Given the description of an element on the screen output the (x, y) to click on. 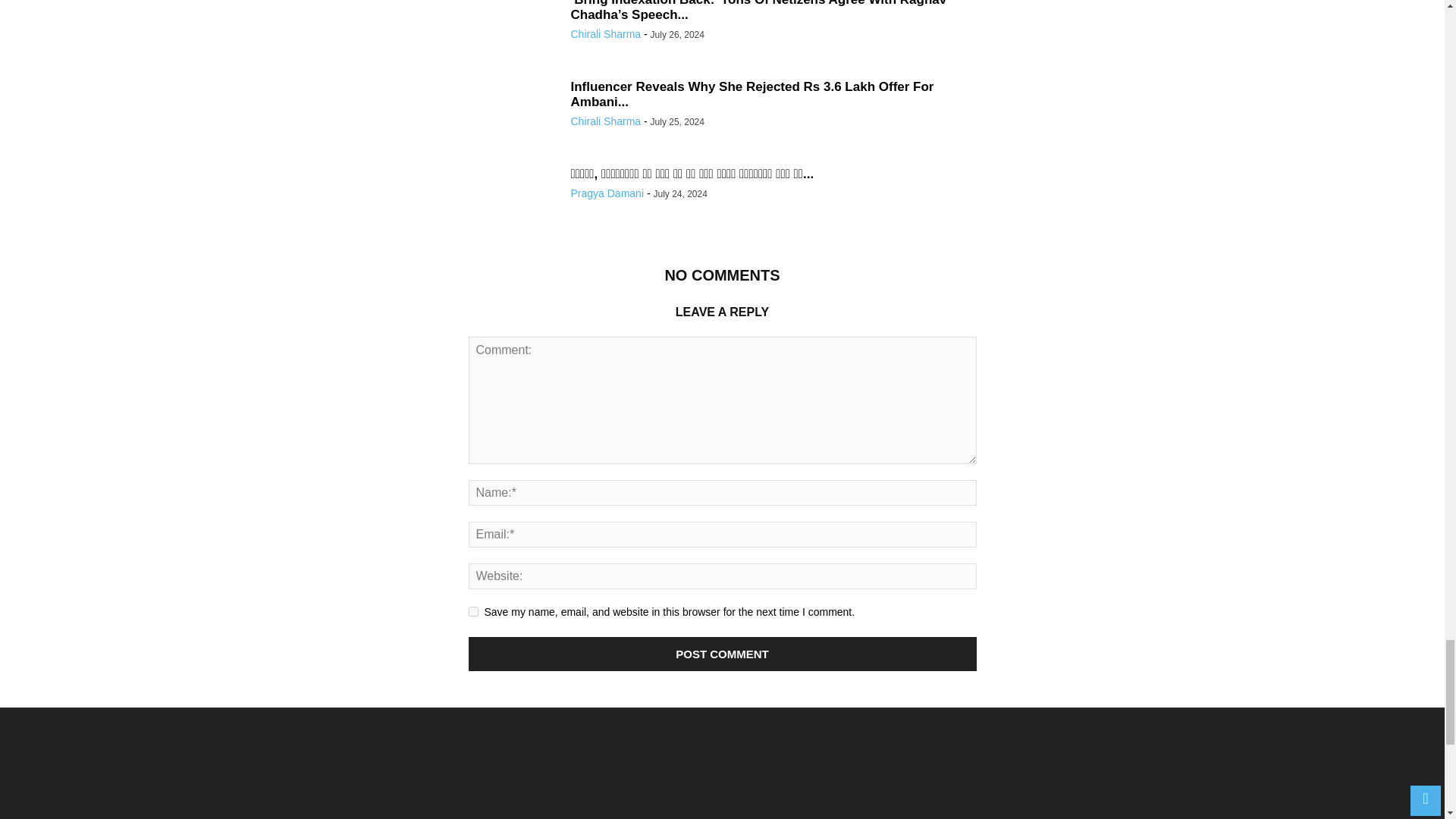
yes (473, 611)
Post Comment (722, 653)
